Given the description of an element on the screen output the (x, y) to click on. 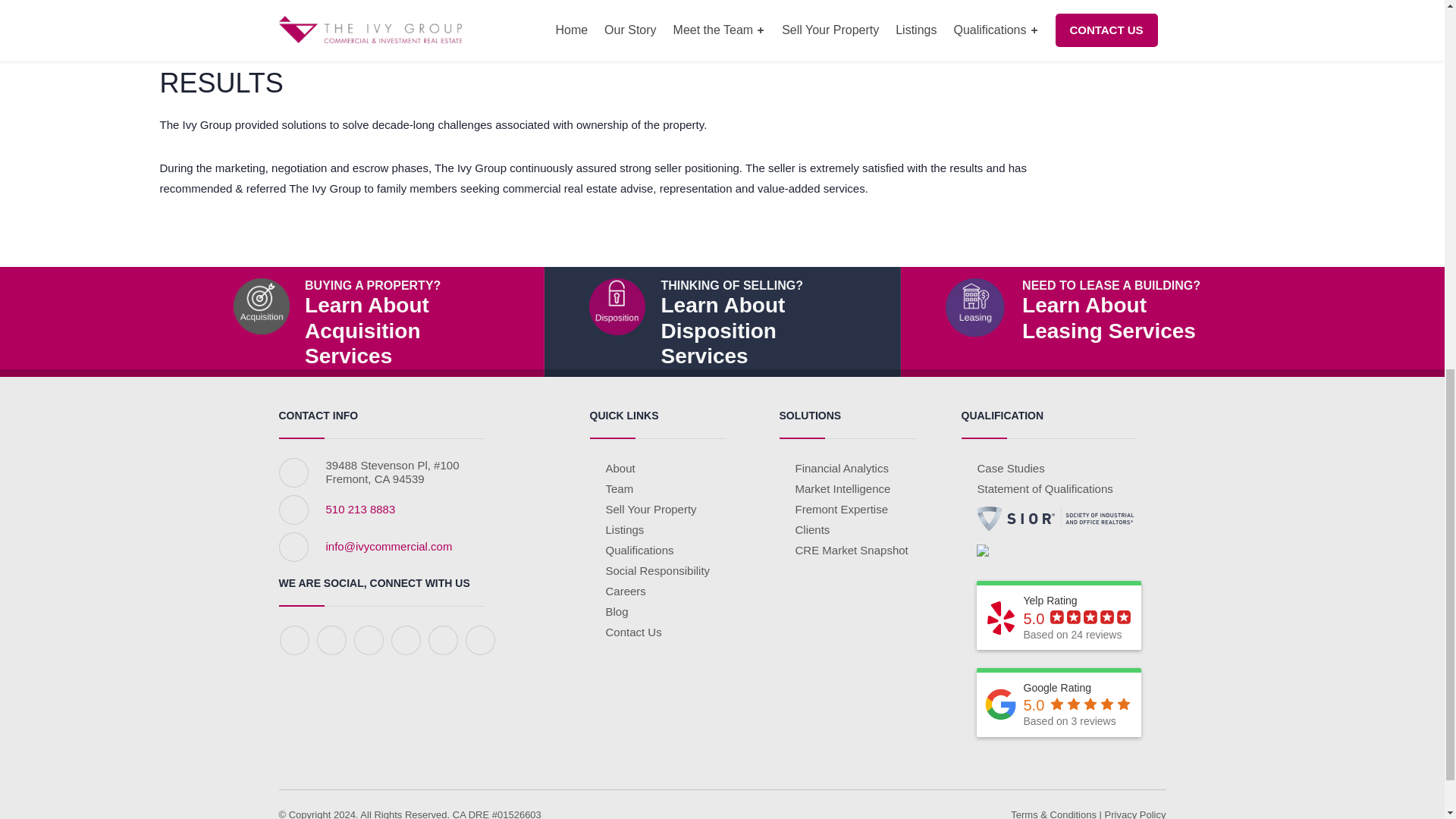
Contact Us (633, 631)
Facebook (293, 639)
LinkedIn (367, 639)
510 213 8883 (721, 321)
Market Intelligence (361, 508)
Financial Analytics (841, 488)
Listings (841, 468)
Careers (624, 529)
